Given the description of an element on the screen output the (x, y) to click on. 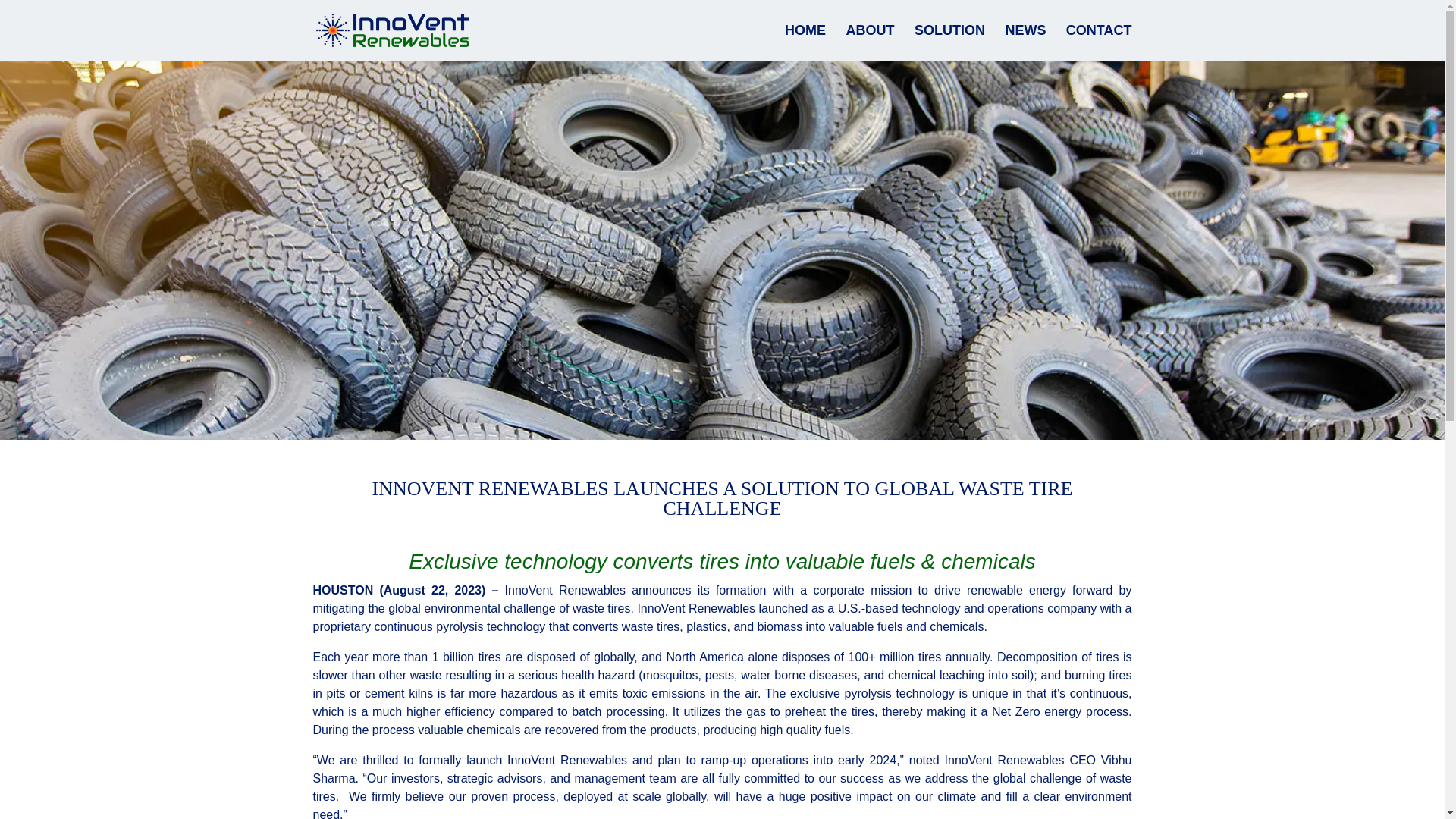
HOME (804, 42)
CONTACT (1098, 42)
NEWS (1024, 42)
ABOUT (869, 42)
SOLUTION (949, 42)
